Given the description of an element on the screen output the (x, y) to click on. 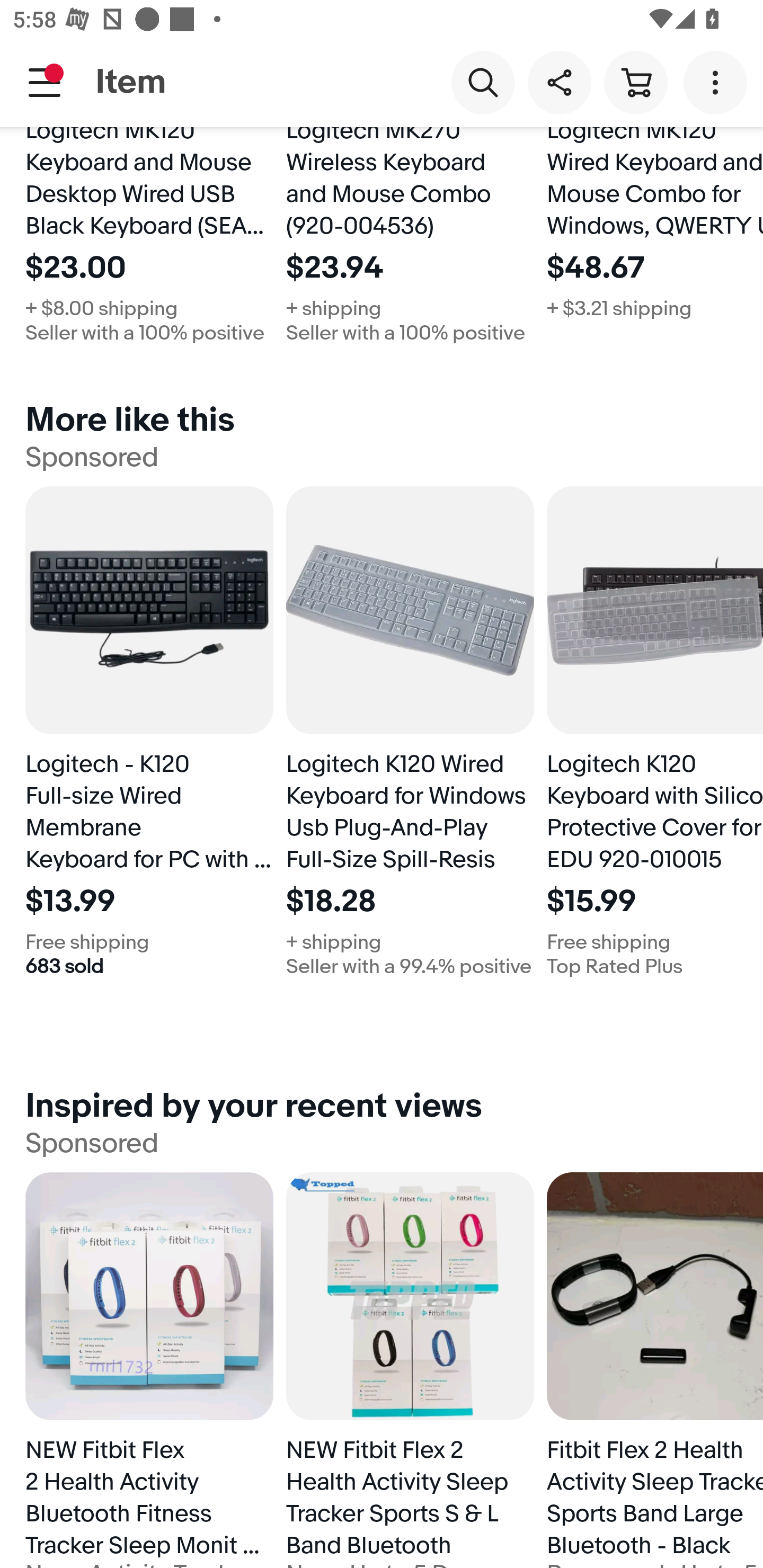
Main navigation, notification is pending, open (44, 82)
Search (482, 81)
Share this item (559, 81)
Cart button shopping cart (635, 81)
More options (718, 81)
